Given the description of an element on the screen output the (x, y) to click on. 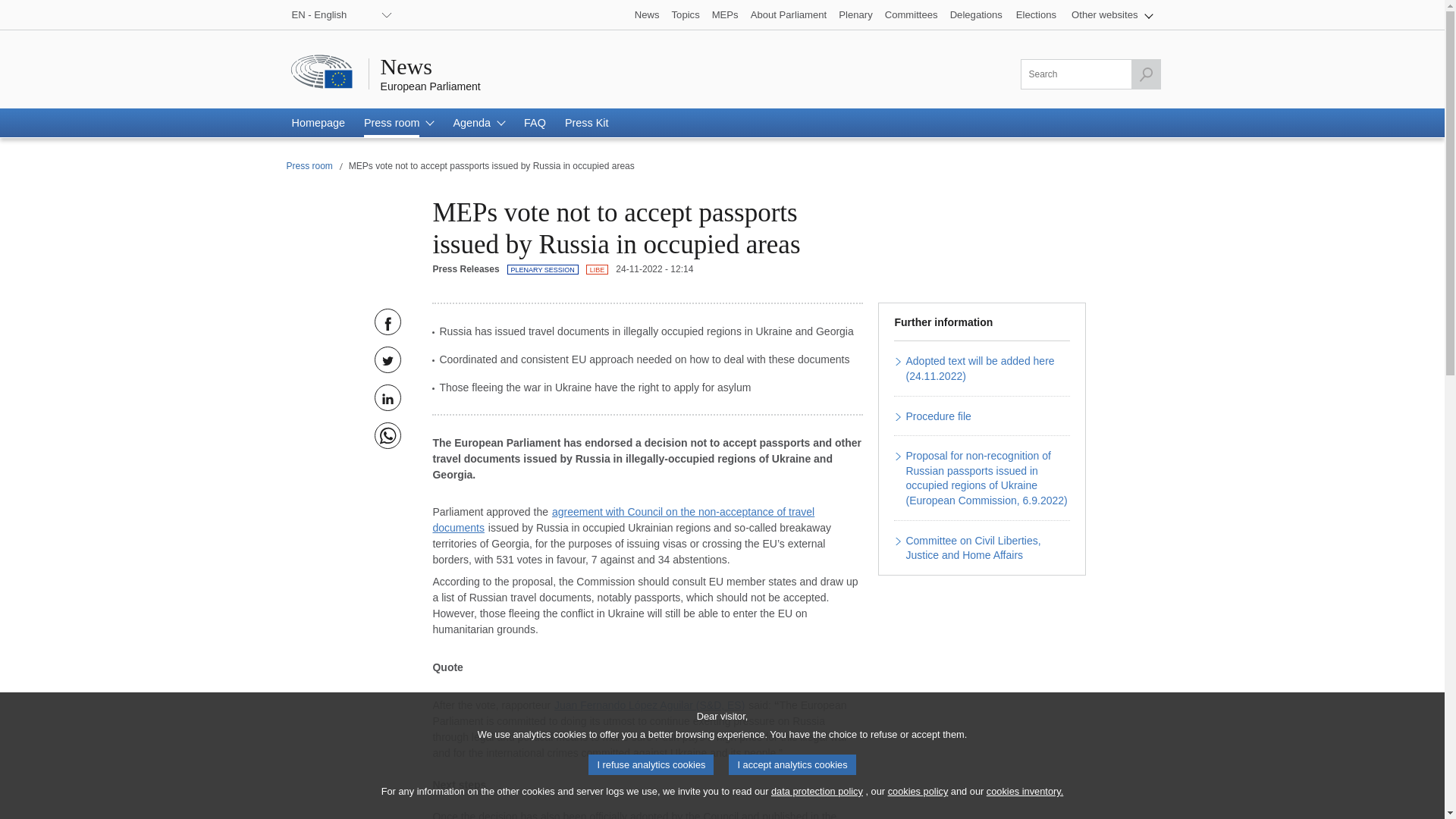
News (646, 14)
Share this page on WhatsApp (387, 435)
I accept analytics cookies (792, 764)
I refuse analytics cookies (650, 764)
Civil Liberties, Justice and Home Affairs (597, 269)
Share this page on Twitter (387, 359)
Share this page on Facebook (387, 321)
Open in a new page (936, 417)
cookies inventory. (1024, 791)
Topics (685, 14)
Please fill out this field (1090, 73)
About Parliament (788, 14)
Open in a new page (985, 477)
data protection policy (817, 791)
EN - English (340, 14)
